Given the description of an element on the screen output the (x, y) to click on. 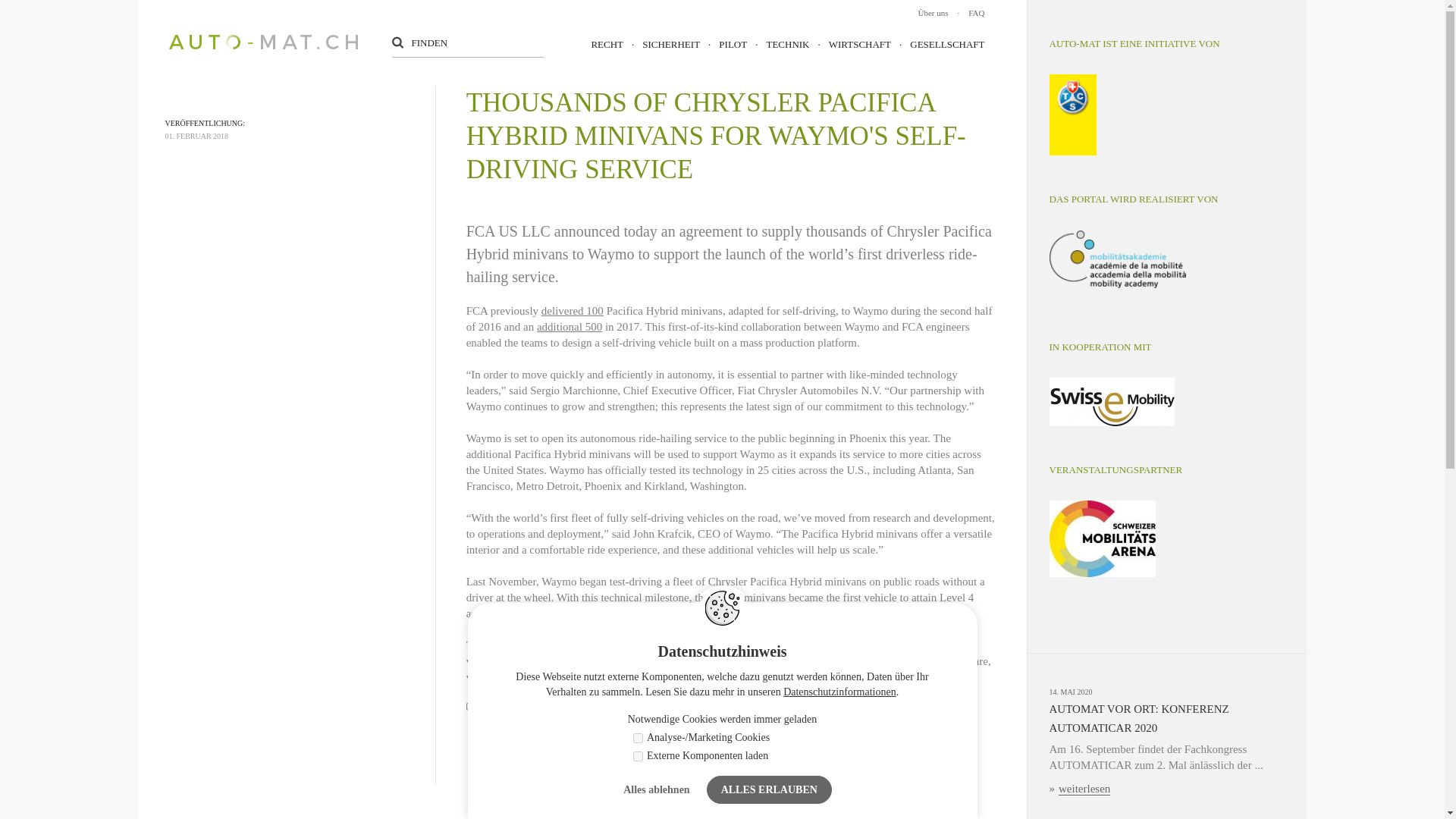
1 (638, 737)
Zur Startseite (262, 42)
FAQ (967, 12)
WIRTSCHAFT (850, 44)
SICHERHEIT (661, 44)
ALLES ERLAUBEN (768, 789)
Alles ablehnen (656, 789)
RECHT (607, 44)
PILOT (723, 44)
1 (638, 756)
